Given the description of an element on the screen output the (x, y) to click on. 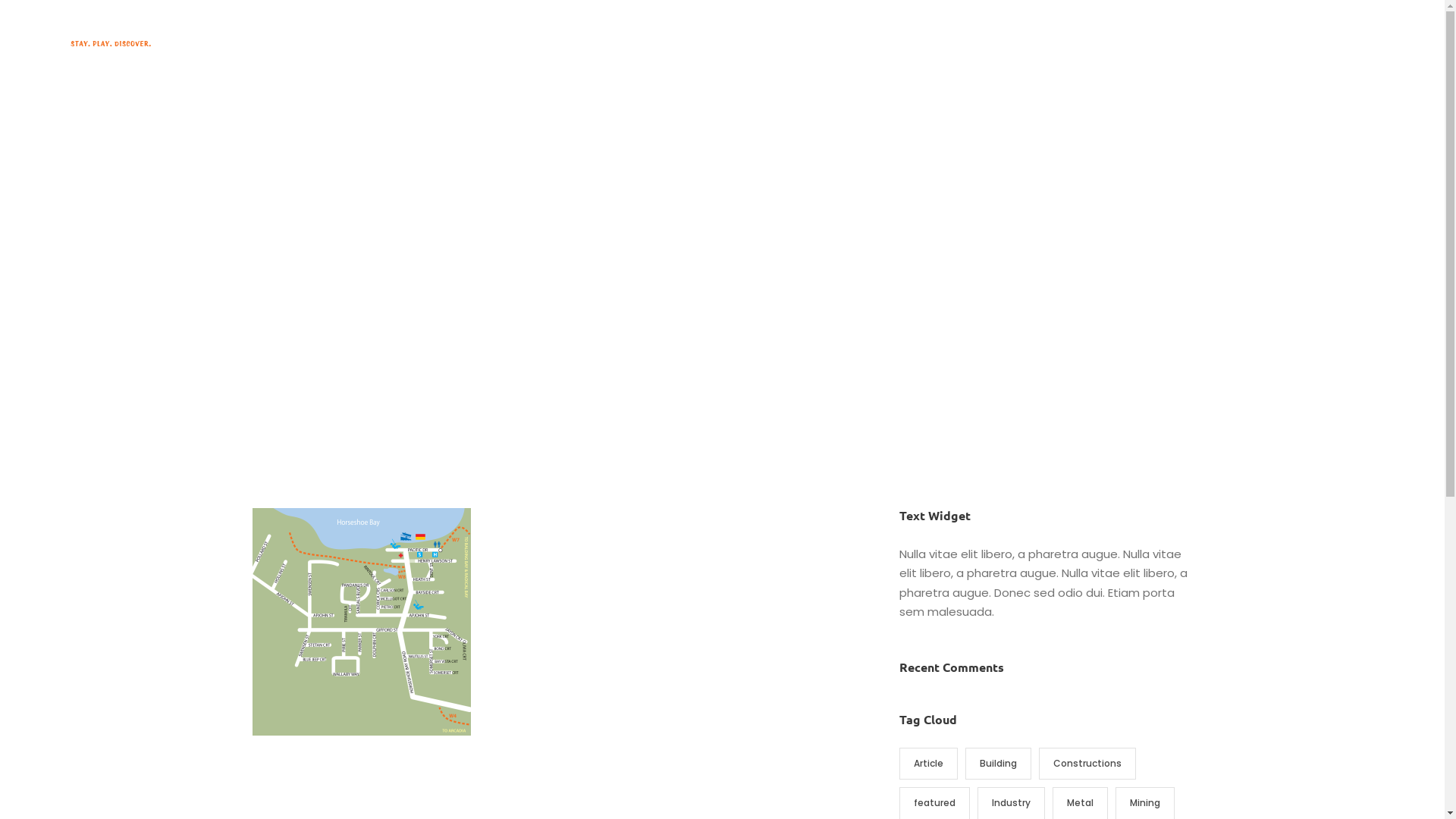
Home Element type: text (585, 45)
The Island Element type: text (836, 45)
Constructions Element type: text (1086, 763)
PLAY Element type: text (684, 45)
Article Element type: text (928, 763)
DISCOVER Element type: text (751, 45)
Building Element type: text (998, 763)
STAY Element type: text (635, 45)
